Given the description of an element on the screen output the (x, y) to click on. 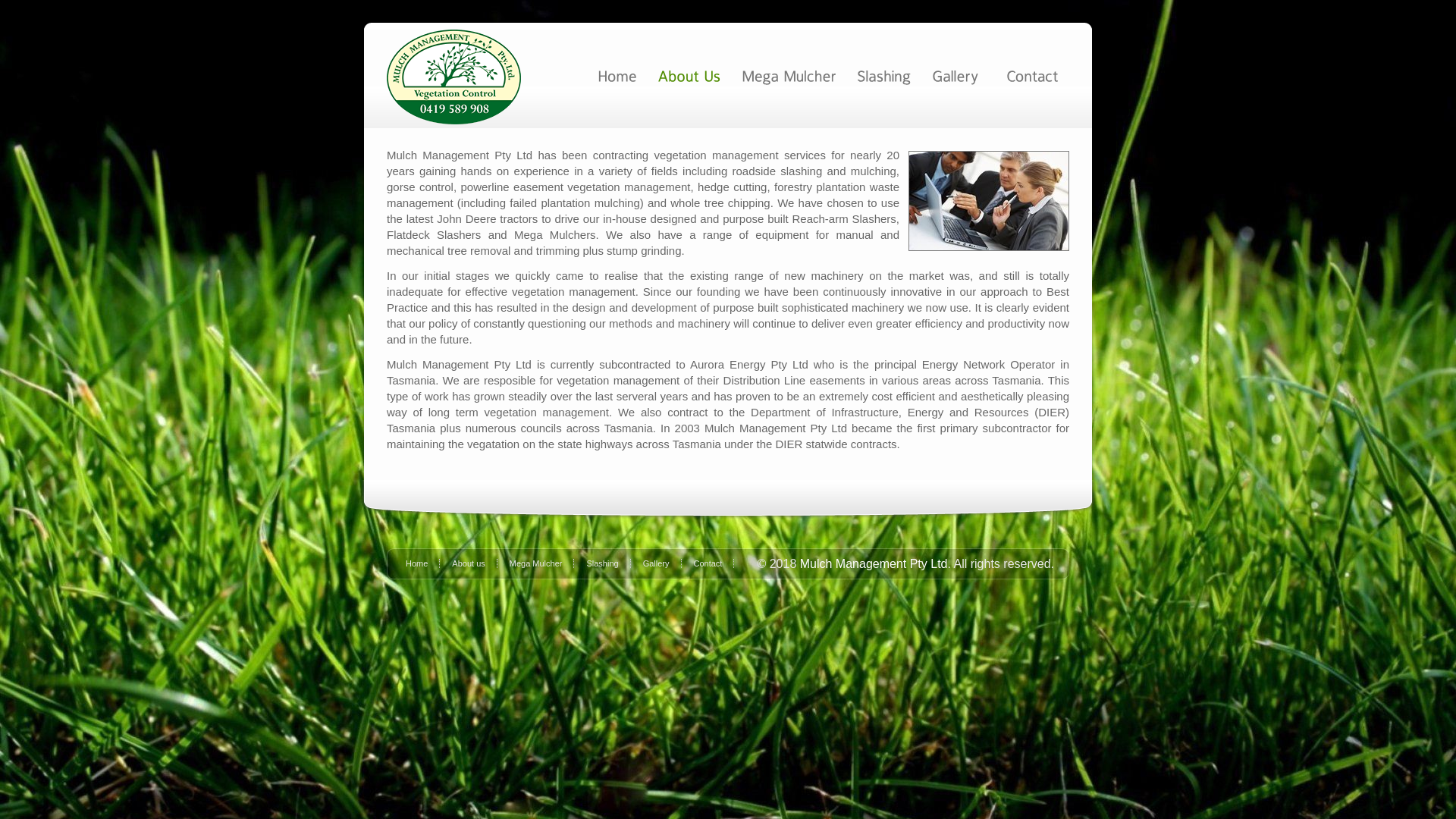
Slashing Element type: text (608, 562)
Mulch Management Pty Ltd Element type: text (873, 563)
Gallery Element type: text (662, 562)
Mega Mulcher Element type: text (541, 562)
Contact Element type: text (713, 562)
Home Element type: text (422, 562)
About us Element type: text (473, 562)
